Given the description of an element on the screen output the (x, y) to click on. 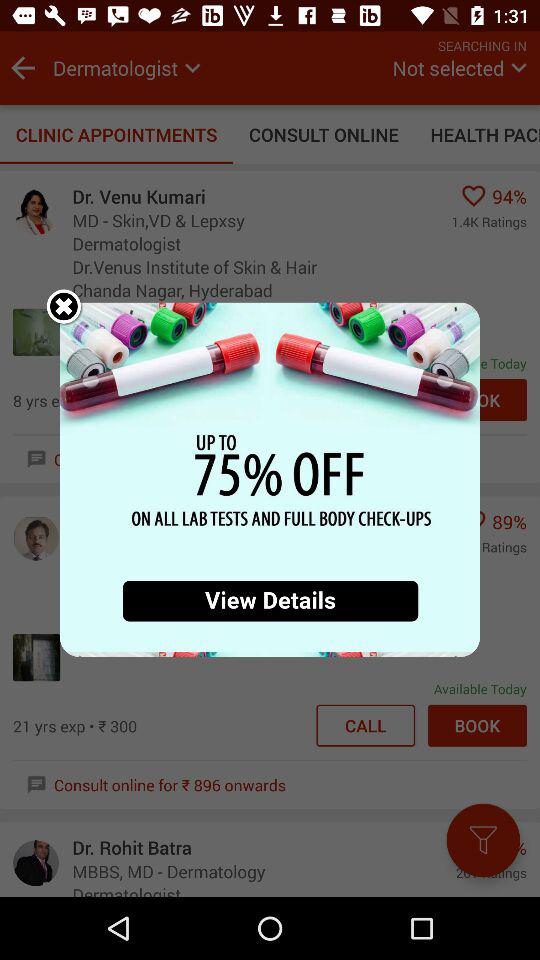
view offer (270, 479)
